Given the description of an element on the screen output the (x, y) to click on. 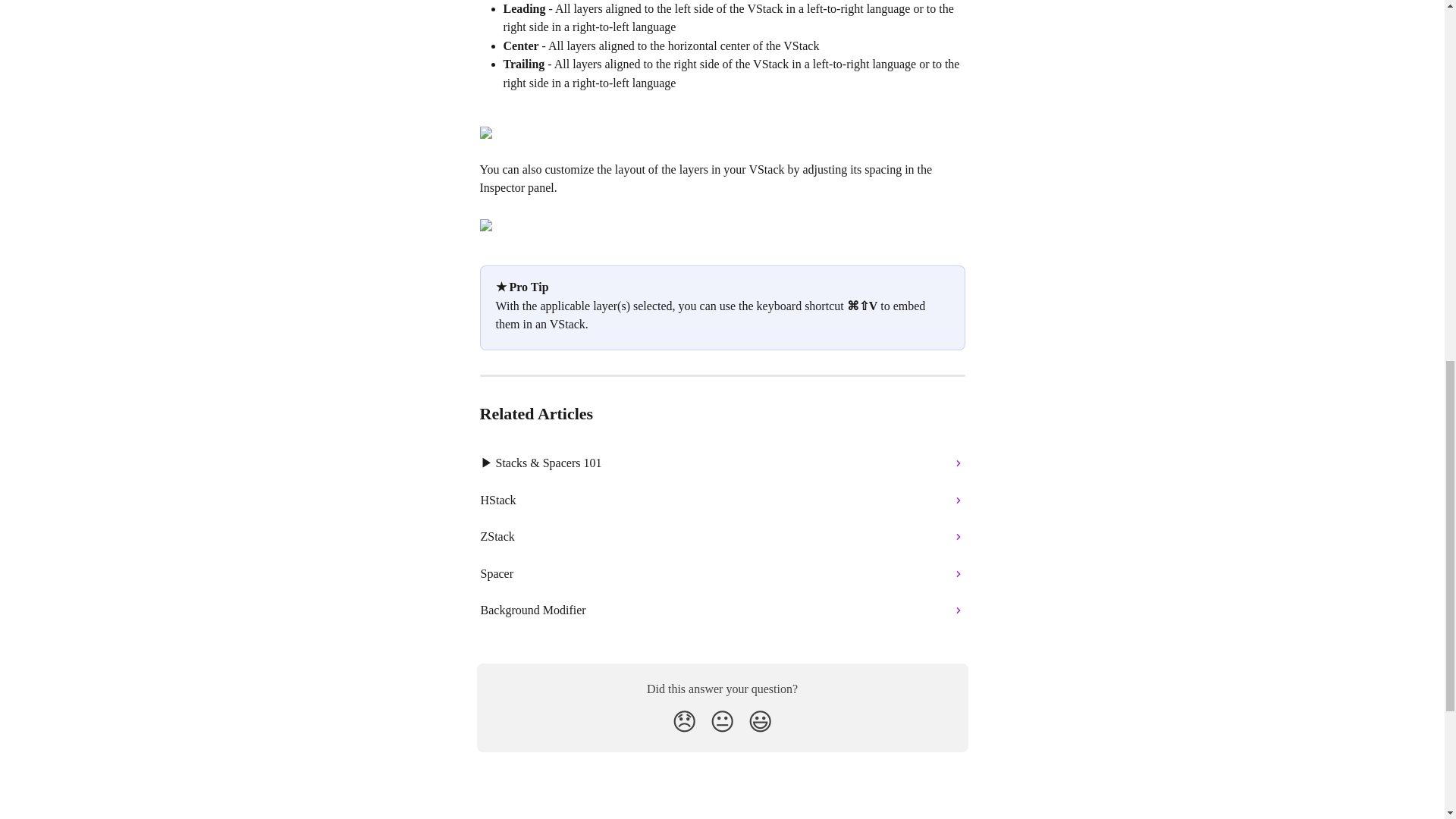
Neutral (722, 721)
Smiley (760, 721)
Background Modifier (722, 610)
ZStack (722, 536)
Disappointed (684, 721)
Spacer (722, 574)
HStack (722, 500)
